Given the description of an element on the screen output the (x, y) to click on. 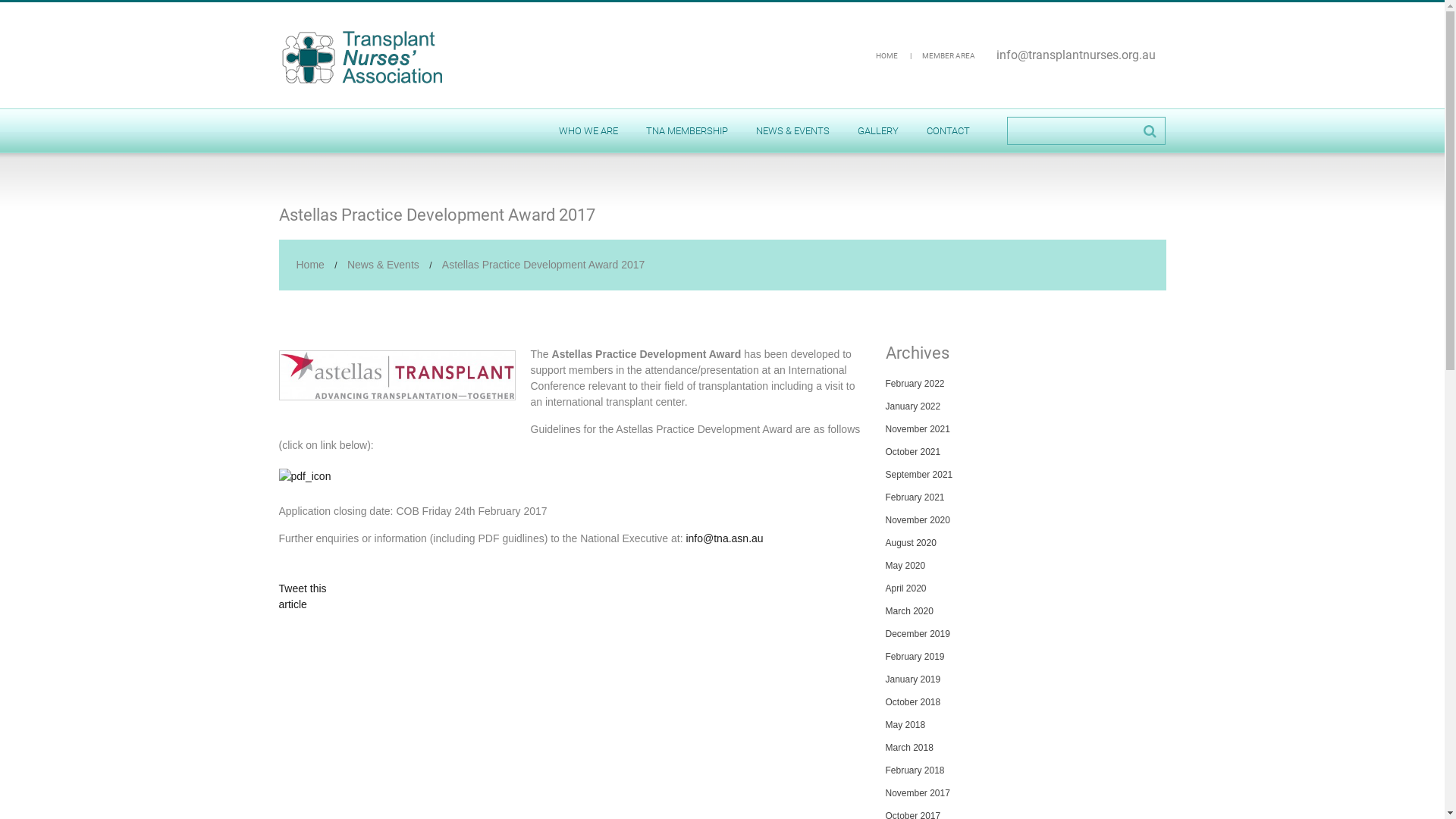
October 2018 Element type: text (913, 701)
March 2020 Element type: text (909, 610)
November 2020 Element type: text (917, 519)
HOME Element type: text (886, 55)
CONTACT Element type: text (947, 130)
February 2019 Element type: text (914, 656)
Tweet this article Element type: text (302, 596)
GALLERY Element type: text (876, 130)
March 2018 Element type: text (909, 747)
info@transplantnurses.org.au Element type: text (1075, 54)
December 2019 Element type: text (917, 633)
NEWS & EVENTS Element type: text (791, 130)
February 2018 Element type: text (914, 770)
January 2019 Element type: text (913, 679)
February 2021 Element type: text (914, 497)
MEMBER AREA Element type: text (948, 55)
News & Events Element type: text (383, 264)
October 2021 Element type: text (913, 451)
May 2020 Element type: text (905, 565)
May 2018 Element type: text (905, 724)
February 2022 Element type: text (914, 383)
Home Element type: text (309, 264)
WHO WE ARE Element type: text (587, 130)
August 2020 Element type: text (910, 542)
January 2022 Element type: text (913, 406)
September 2021 Element type: text (919, 474)
November 2017 Element type: text (917, 792)
November 2021 Element type: text (917, 428)
info@tna.asn.au Element type: text (723, 538)
TNA MEMBERSHIP Element type: text (687, 130)
April 2020 Element type: text (905, 588)
